Given the description of an element on the screen output the (x, y) to click on. 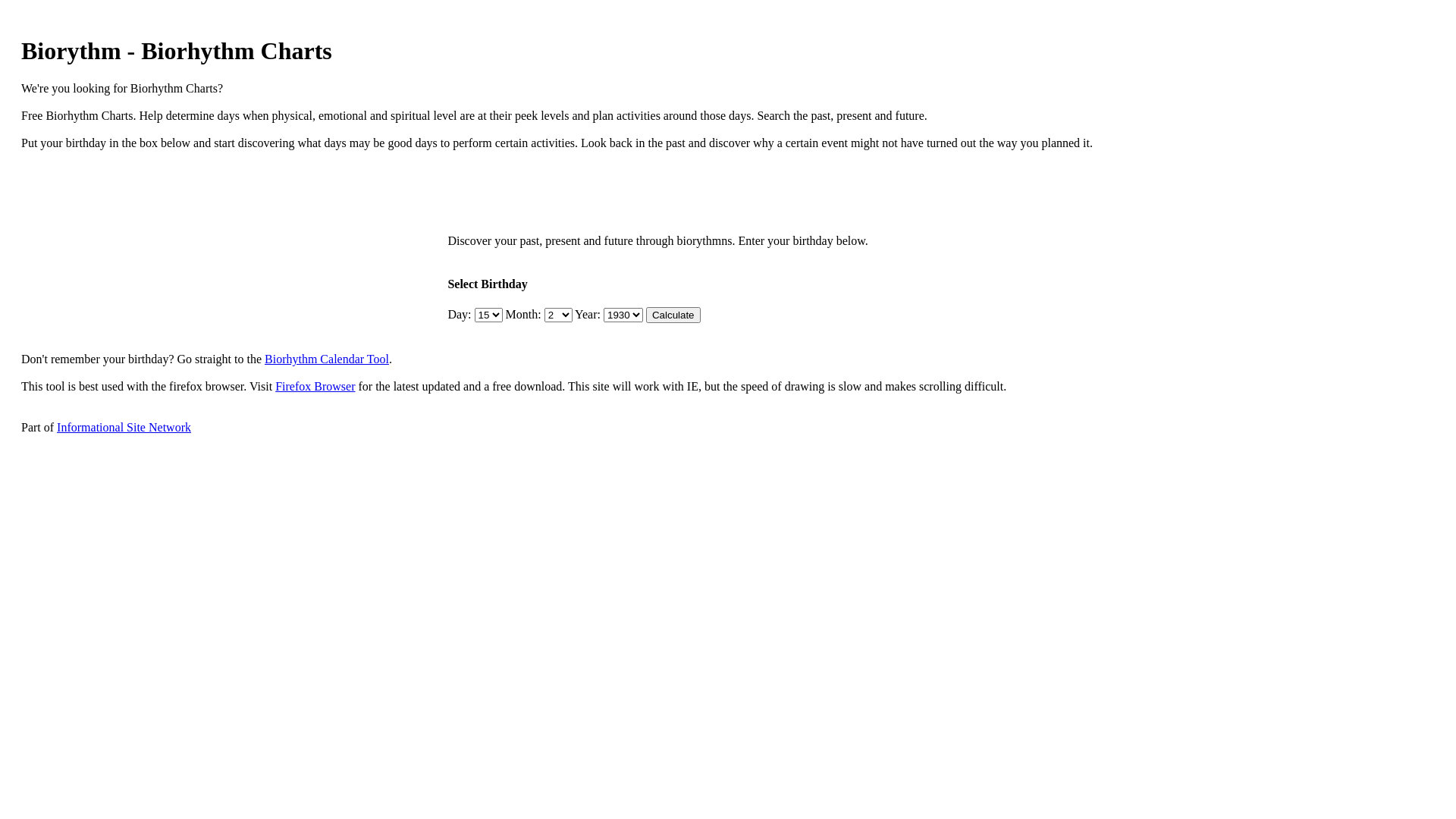
Biorhythm Calendar Tool Element type: text (326, 358)
Firefox Browser Element type: text (314, 385)
Calculate Element type: text (673, 315)
Informational Site Network Element type: text (123, 426)
